Given the description of an element on the screen output the (x, y) to click on. 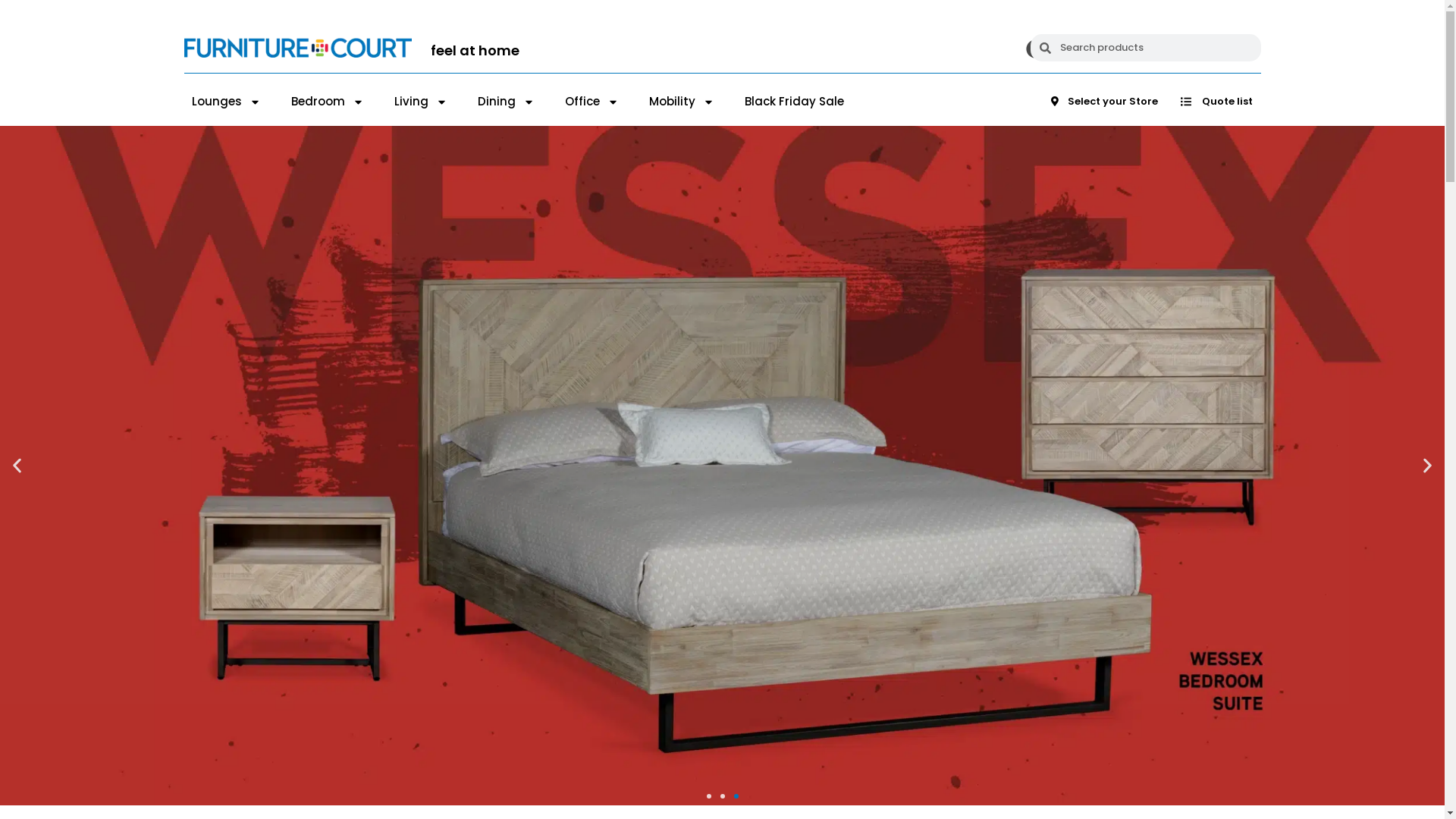
Lounges Element type: text (225, 101)
Quote list Element type: text (1216, 101)
Living Element type: text (420, 101)
Dining Element type: text (505, 101)
Black Friday Sale Element type: text (794, 101)
Select your Store Element type: text (1104, 101)
Office Element type: text (591, 101)
Bedroom Element type: text (327, 101)
Mobility Element type: text (681, 101)
